Given the description of an element on the screen output the (x, y) to click on. 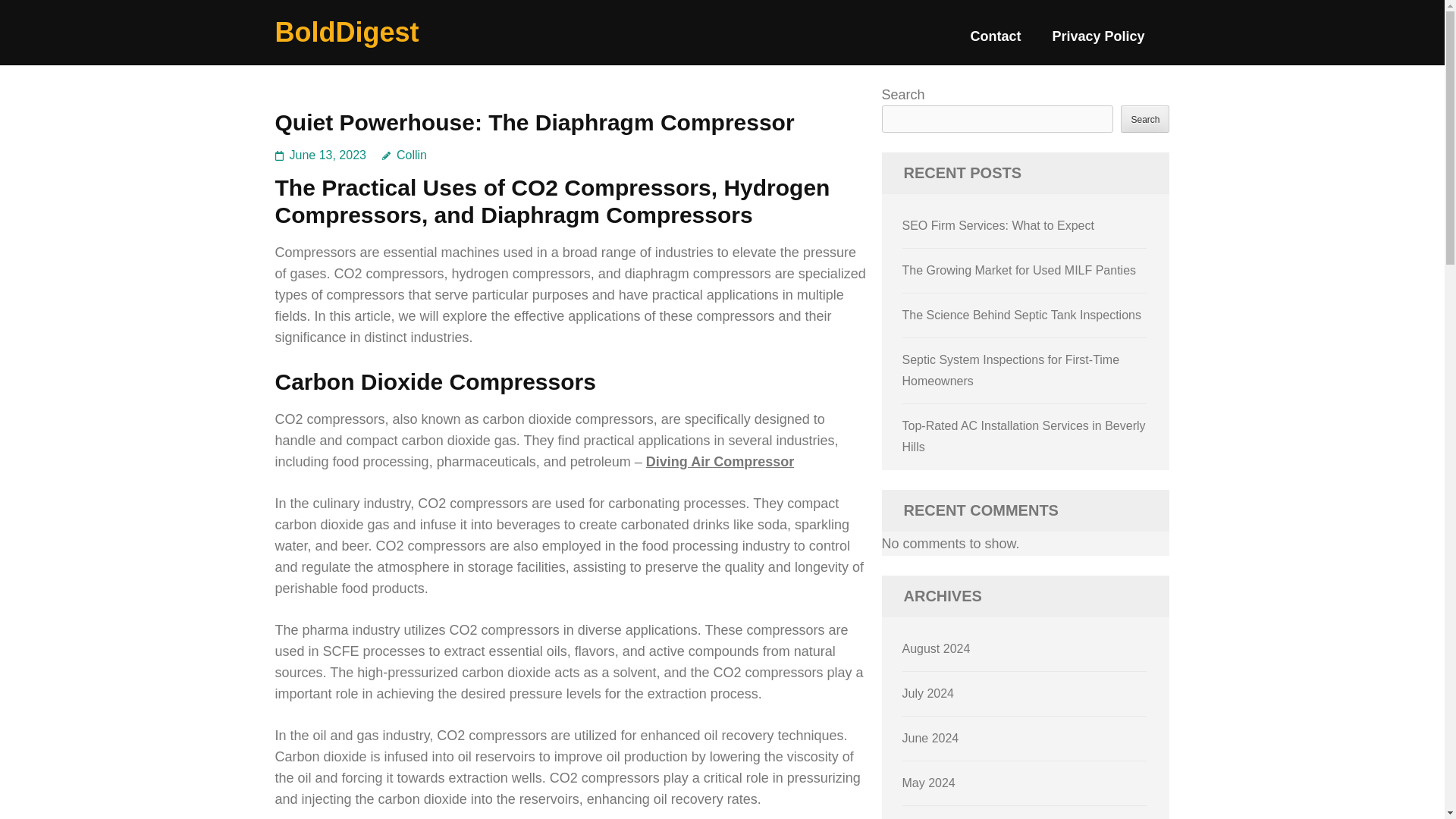
Top-Rated AC Installation Services in Beverly Hills (1023, 346)
Septic System Inspections for First-Time Homeowners (1010, 280)
May 2024 (928, 780)
Contact (994, 42)
Privacy Policy (1097, 42)
Collin (403, 154)
BoldDigest (347, 31)
The Science Behind Septic Tank Inspections (1021, 225)
Professional vs. DIY Septic Grease Trap Cleaning (1010, 478)
Diving Air Compressor (719, 461)
Grease Trap Pumping: A Comprehensive Guide (1012, 412)
June 2024 (930, 735)
June 13, 2023 (327, 154)
Search (1145, 118)
July 2024 (928, 690)
